Given the description of an element on the screen output the (x, y) to click on. 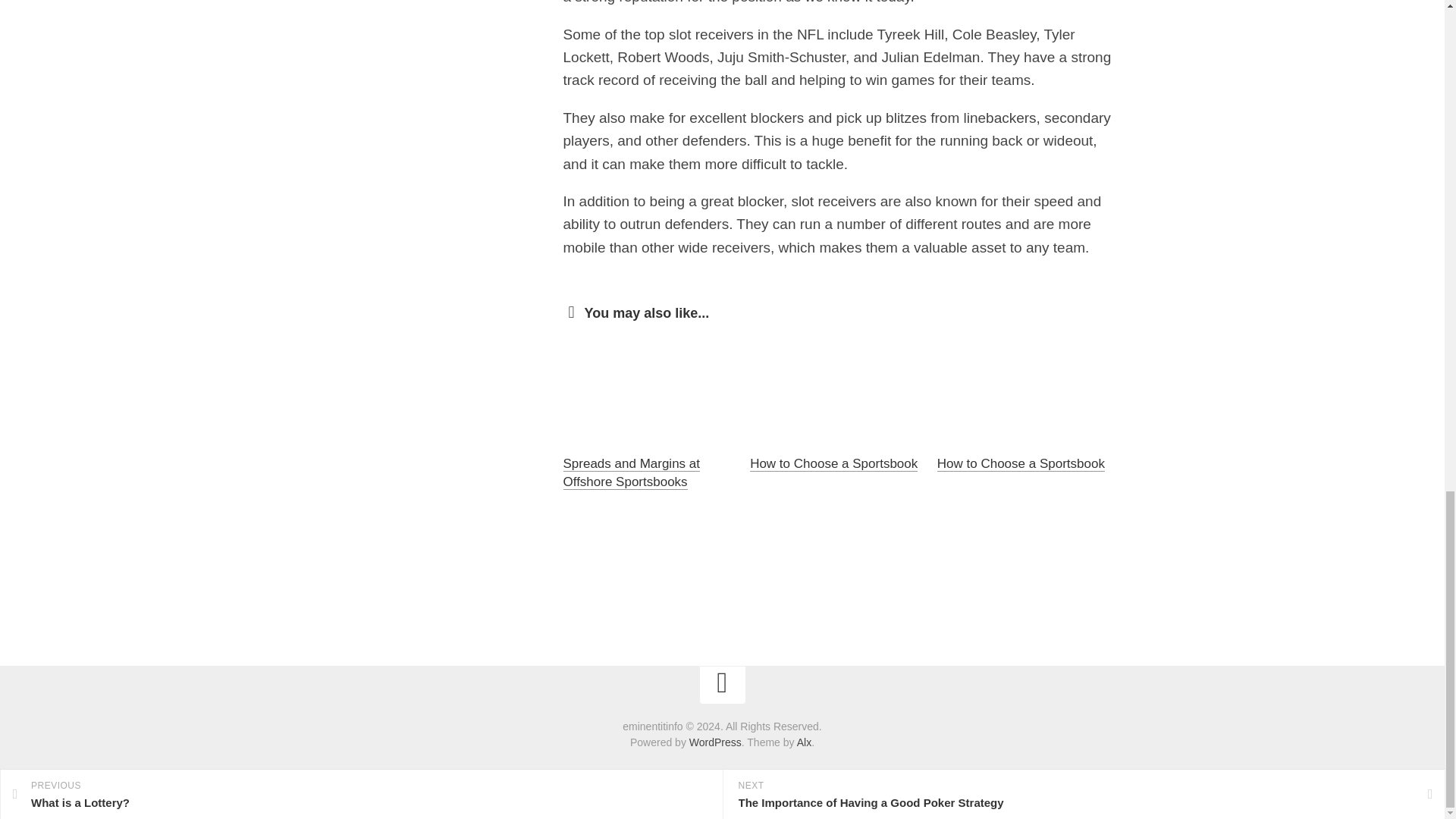
WordPress (714, 742)
Alx (803, 742)
How to Choose a Sportsbook (833, 463)
How to Choose a Sportsbook (1021, 463)
Spreads and Margins at Offshore Sportsbooks (631, 472)
